Given the description of an element on the screen output the (x, y) to click on. 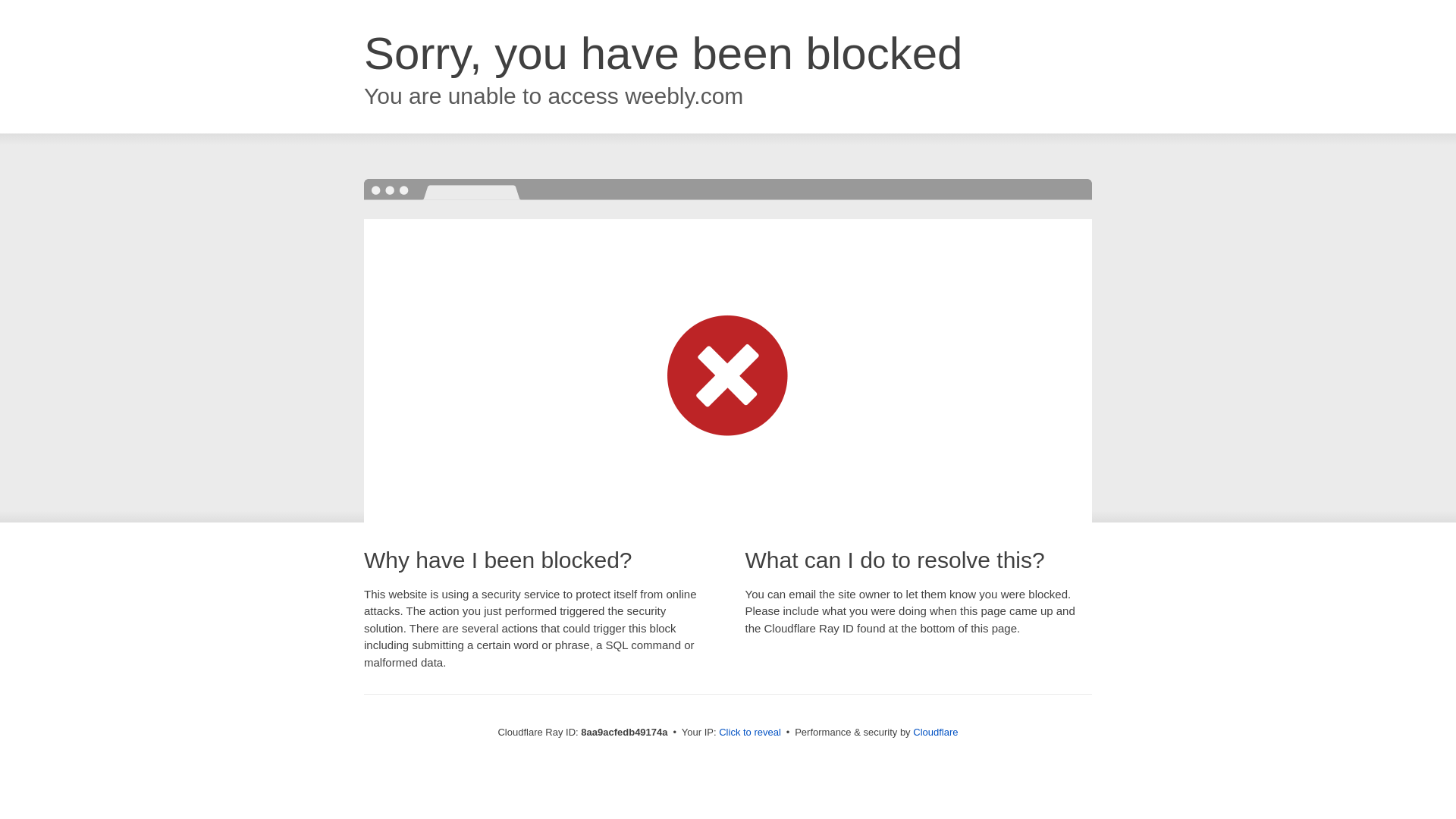
Click to reveal (749, 732)
Cloudflare (935, 731)
